Given the description of an element on the screen output the (x, y) to click on. 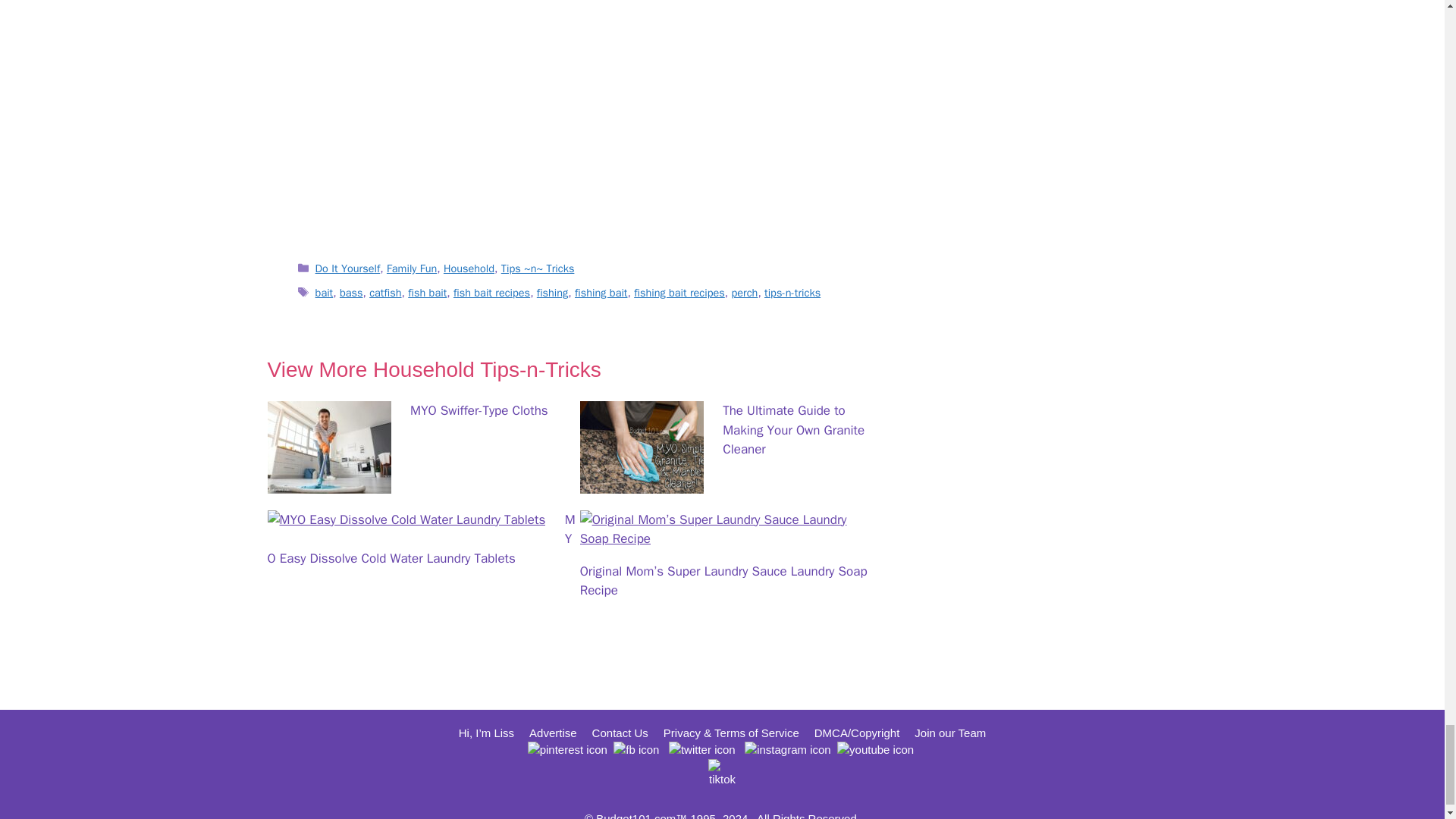
b101 striper bait recipe (577, 119)
MYO Swiffer-Type Cloths (328, 483)
